Given the description of an element on the screen output the (x, y) to click on. 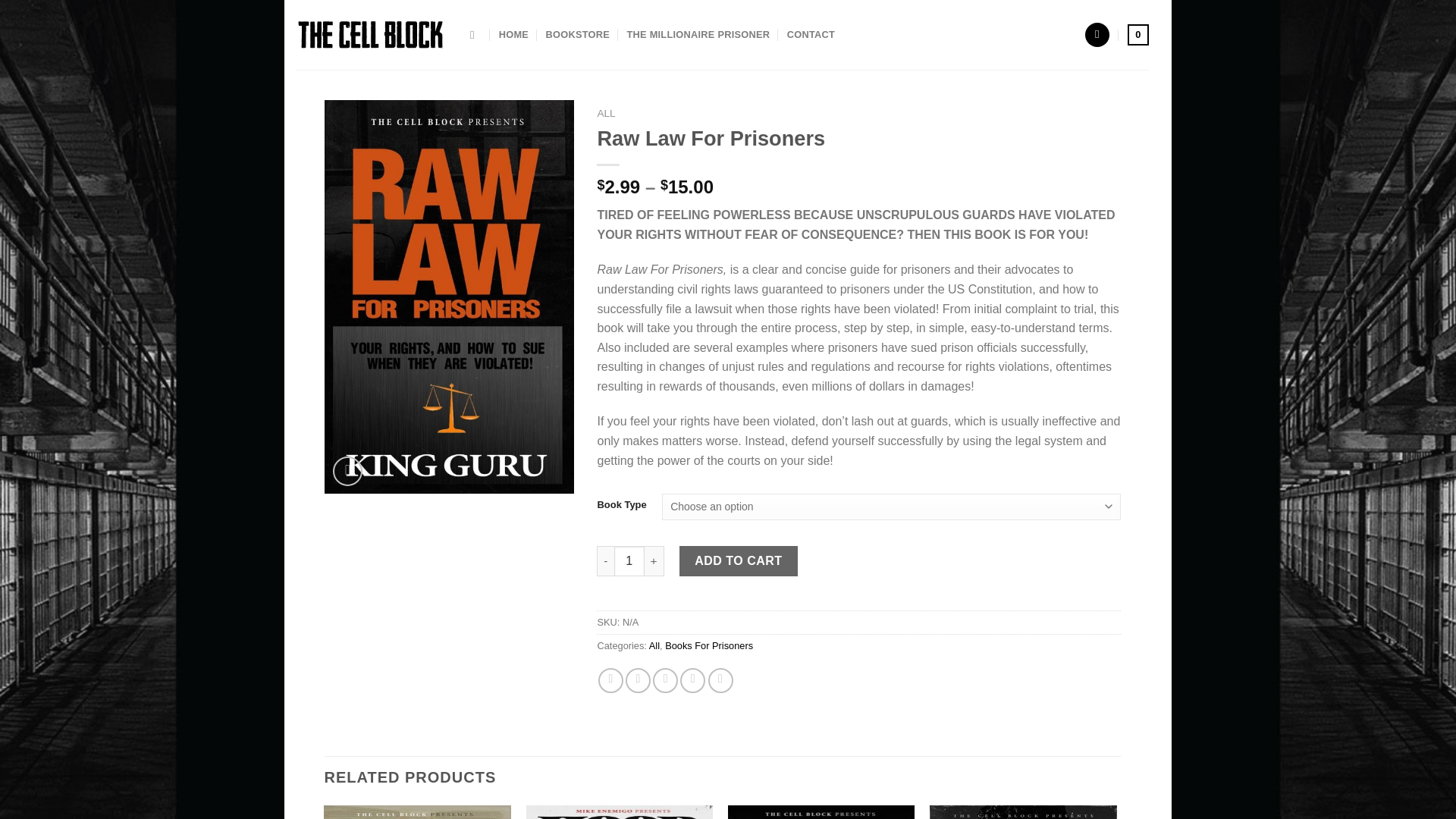
Books For Prisoners (708, 645)
Pin on Pinterest (691, 680)
Share on Facebook (610, 680)
THE MILLIONAIRE PRISONER (698, 34)
Zoom (347, 471)
Share on LinkedIn (720, 680)
All (654, 645)
BOOKSTORE (578, 34)
ADD TO CART (738, 561)
1 (629, 561)
